Given the description of an element on the screen output the (x, y) to click on. 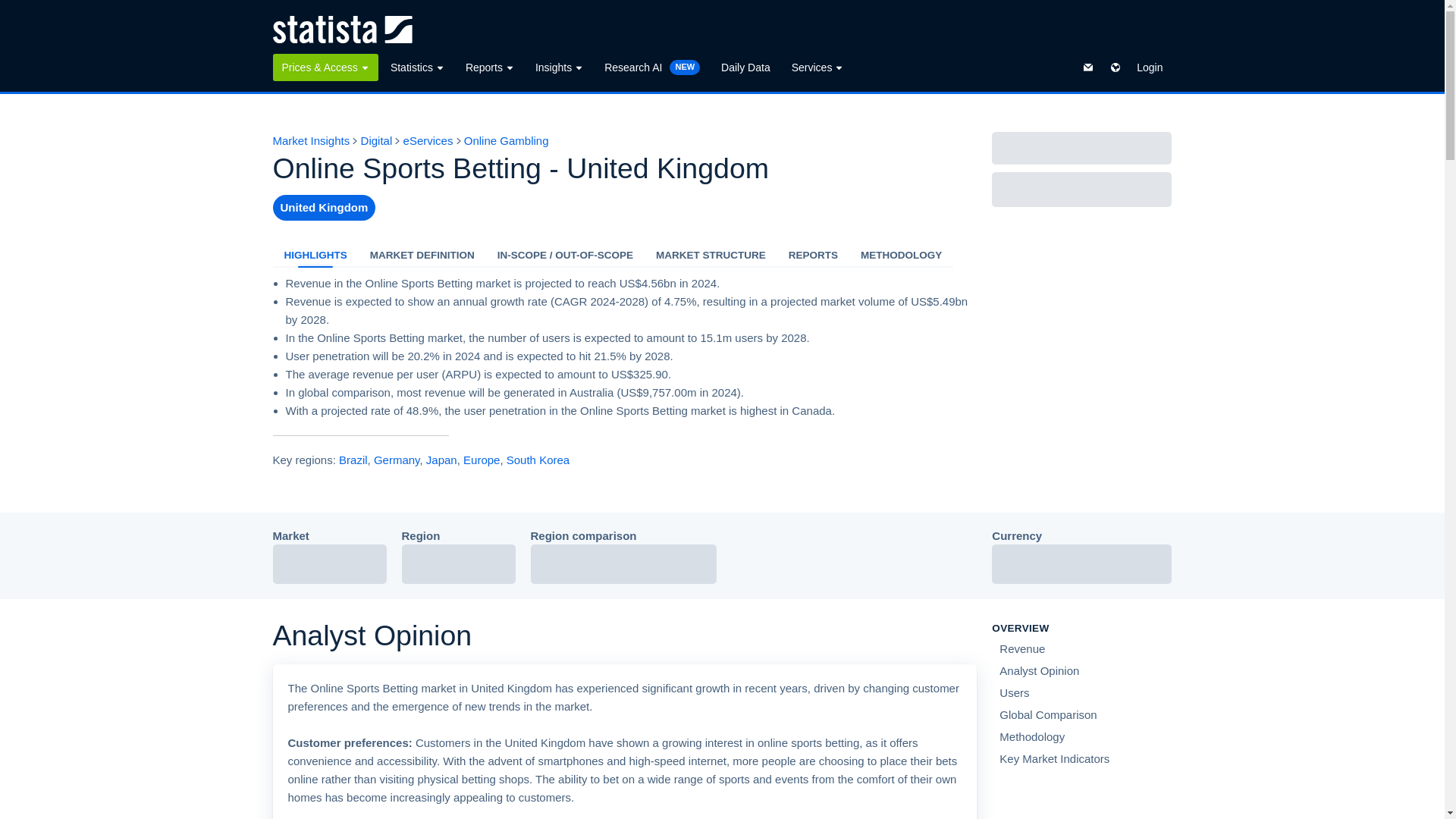
Login (1149, 67)
Login (1149, 67)
Reports (489, 67)
Statistics (416, 67)
Skip to main content (12, 9)
